Given the description of an element on the screen output the (x, y) to click on. 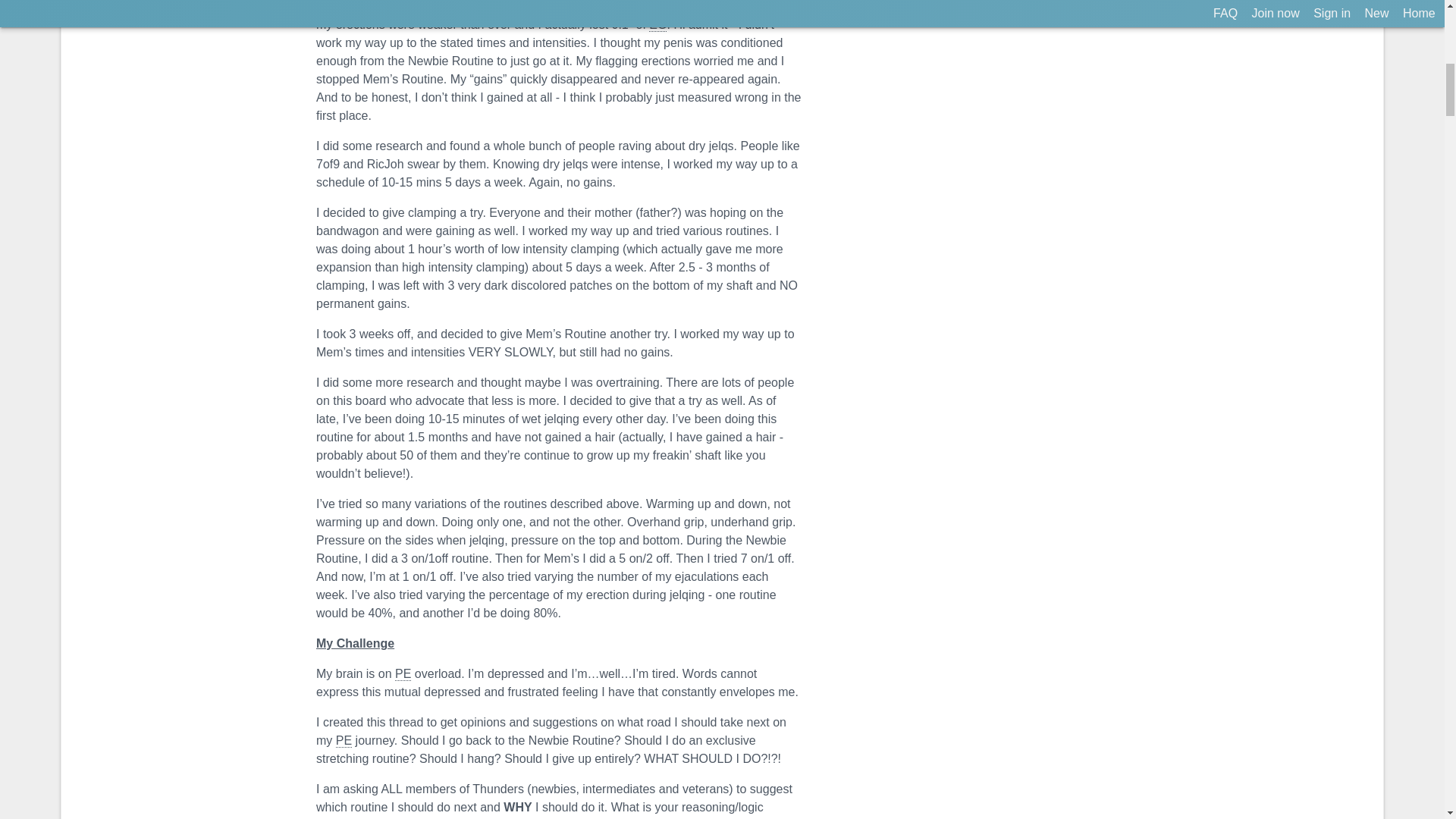
Erect Girth (657, 24)
Penis Enlargement (344, 740)
Penis Enlargement (402, 673)
